Given the description of an element on the screen output the (x, y) to click on. 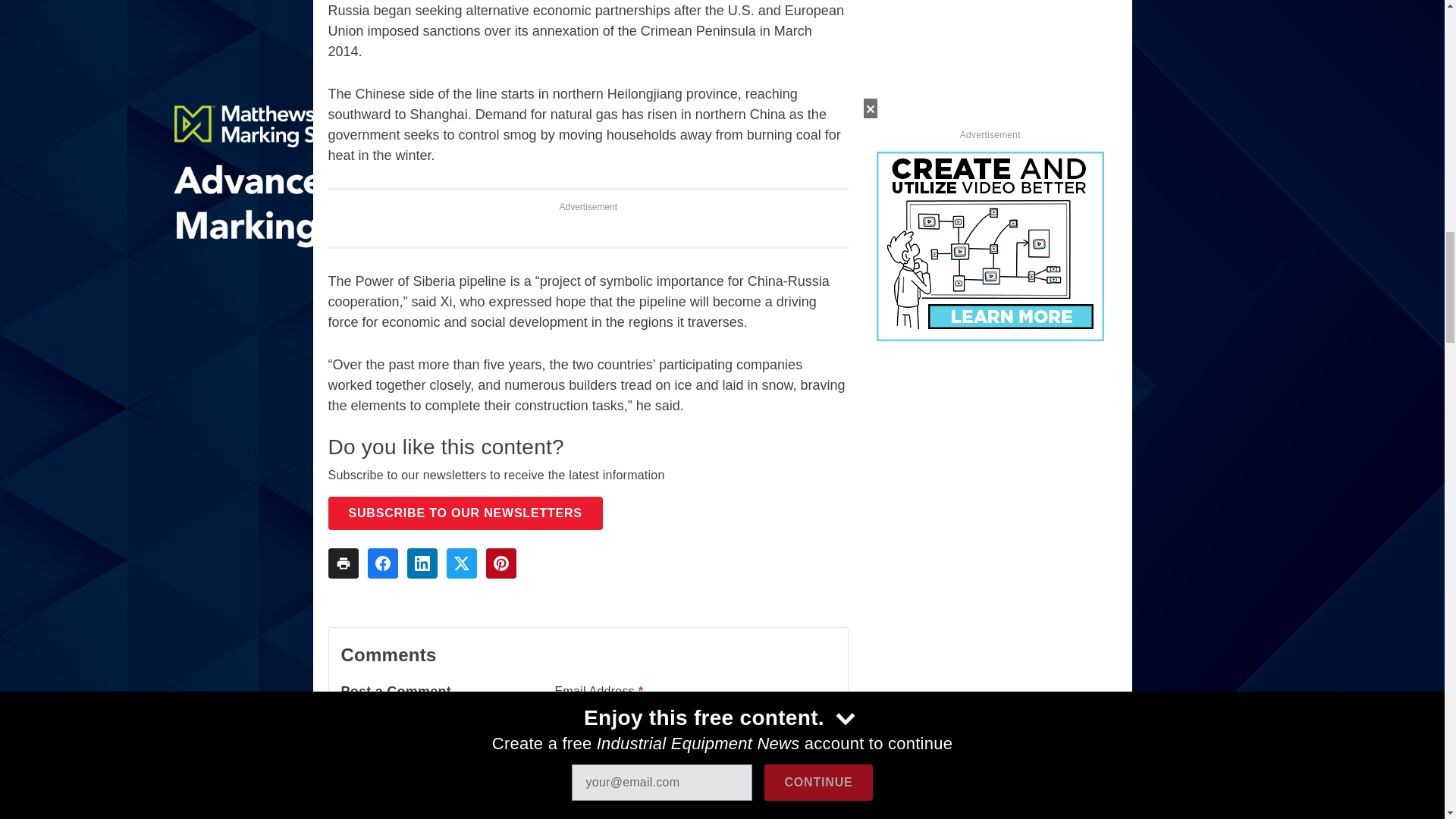
Share To linkedin (421, 562)
Share To print (342, 562)
Share To facebook (381, 562)
